Given the description of an element on the screen output the (x, y) to click on. 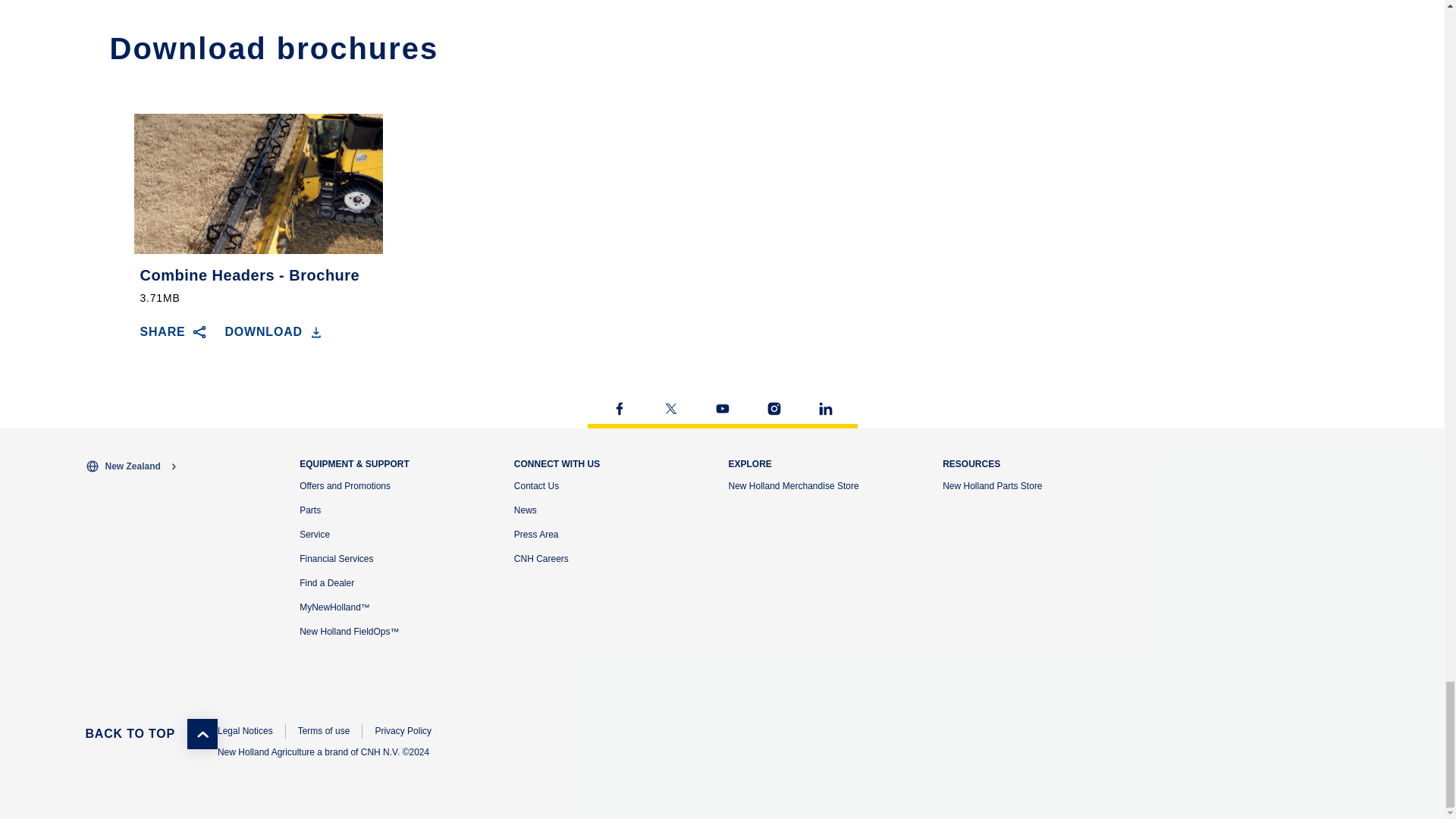
Find a Dealer (326, 583)
News (525, 510)
Press Area (536, 534)
New Holland Parts Store (992, 485)
EXPLORE (749, 463)
DOWNLOAD (274, 331)
New Zealand (185, 466)
News (525, 510)
Terms of use (324, 730)
SHARE (172, 331)
Legal Notices (244, 730)
Terms of use (324, 730)
Parts (309, 510)
CONNECT WITH US (556, 463)
RESOURCES (971, 463)
